Given the description of an element on the screen output the (x, y) to click on. 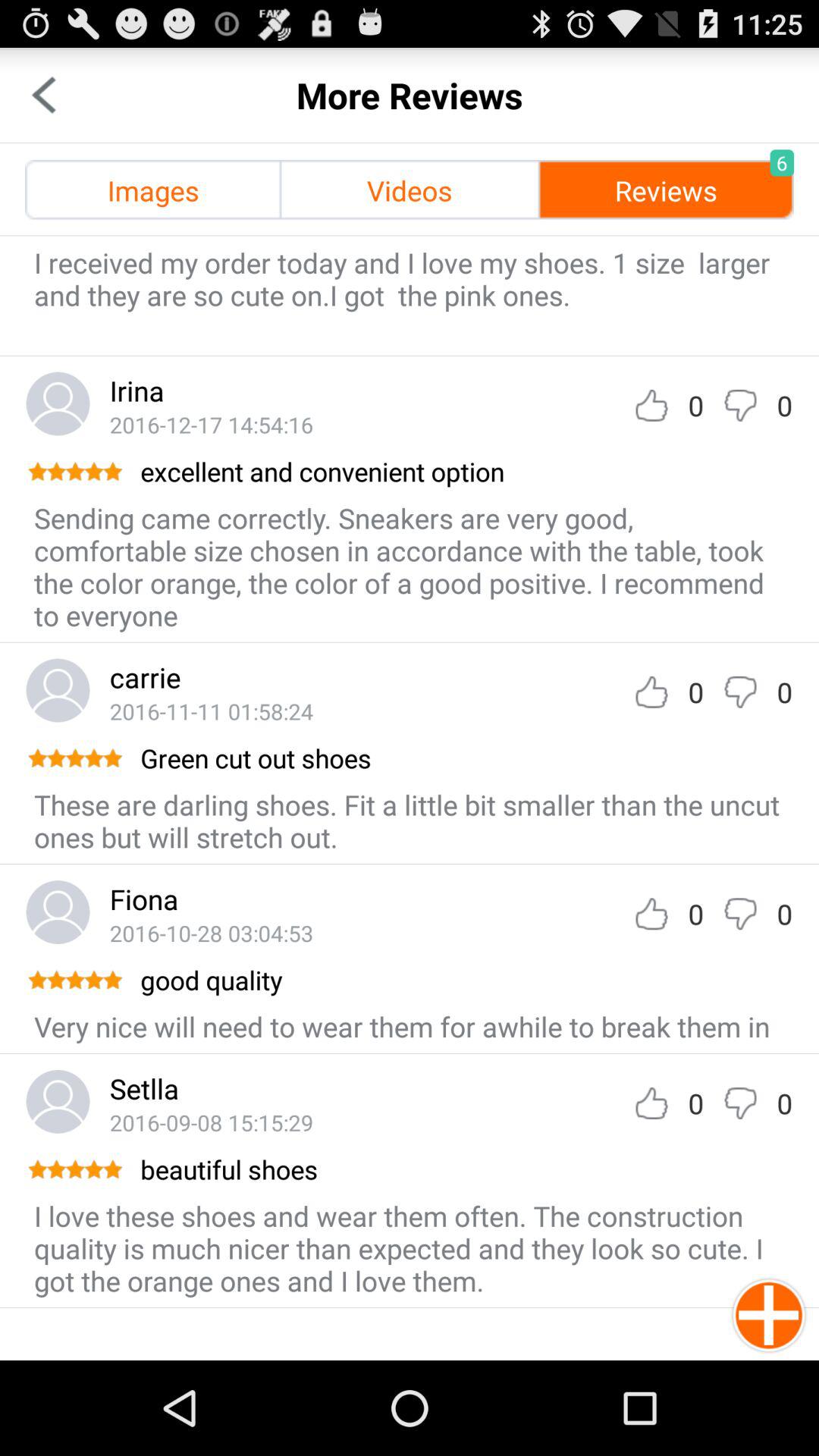
thumb up (651, 405)
